Given the description of an element on the screen output the (x, y) to click on. 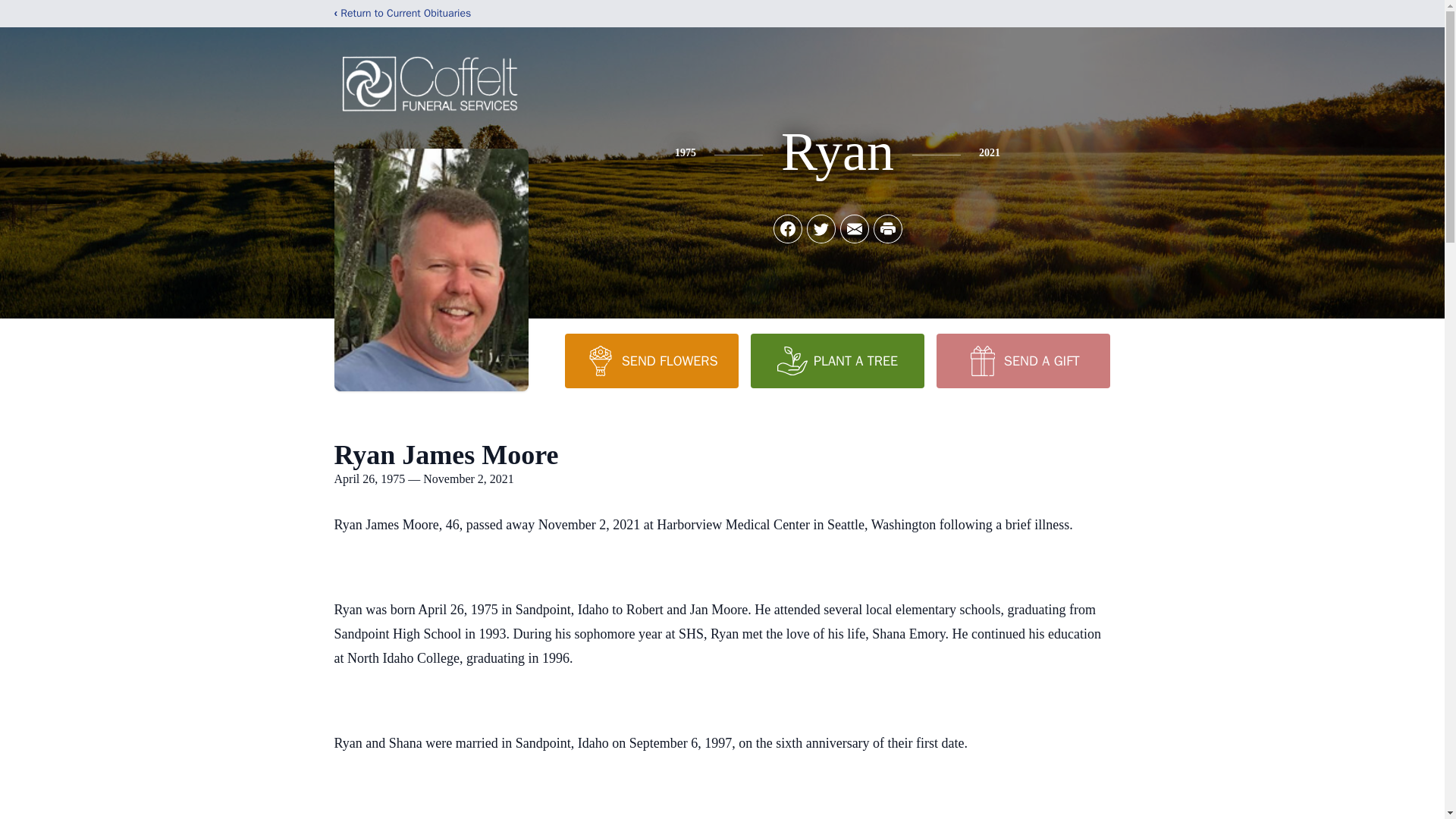
SEND A GIFT (1022, 360)
PLANT A TREE (837, 360)
SEND FLOWERS (651, 360)
